Given the description of an element on the screen output the (x, y) to click on. 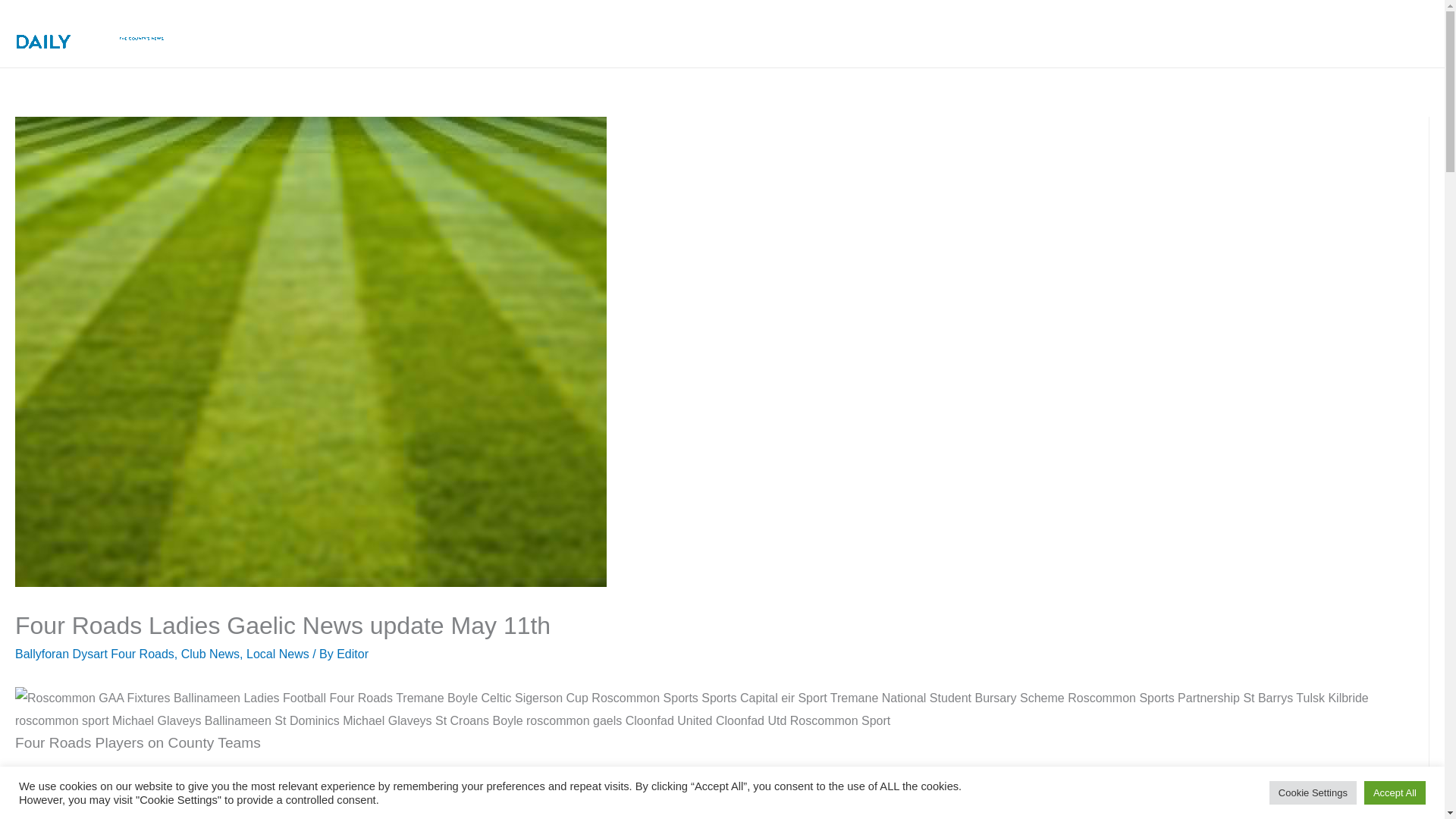
Editor (352, 653)
View all posts by Editor (352, 653)
SPORT (894, 33)
BUSINESS DIRECTORY (1161, 33)
Local News (277, 653)
HOUSES FOR SALE (1004, 33)
DEATH NOTICES (800, 33)
HOME (634, 33)
Ballyforan Dysart Four Roads (94, 653)
JOBS (1276, 33)
Club News (210, 653)
CONTACT US (1371, 33)
NEWS (703, 33)
